Given the description of an element on the screen output the (x, y) to click on. 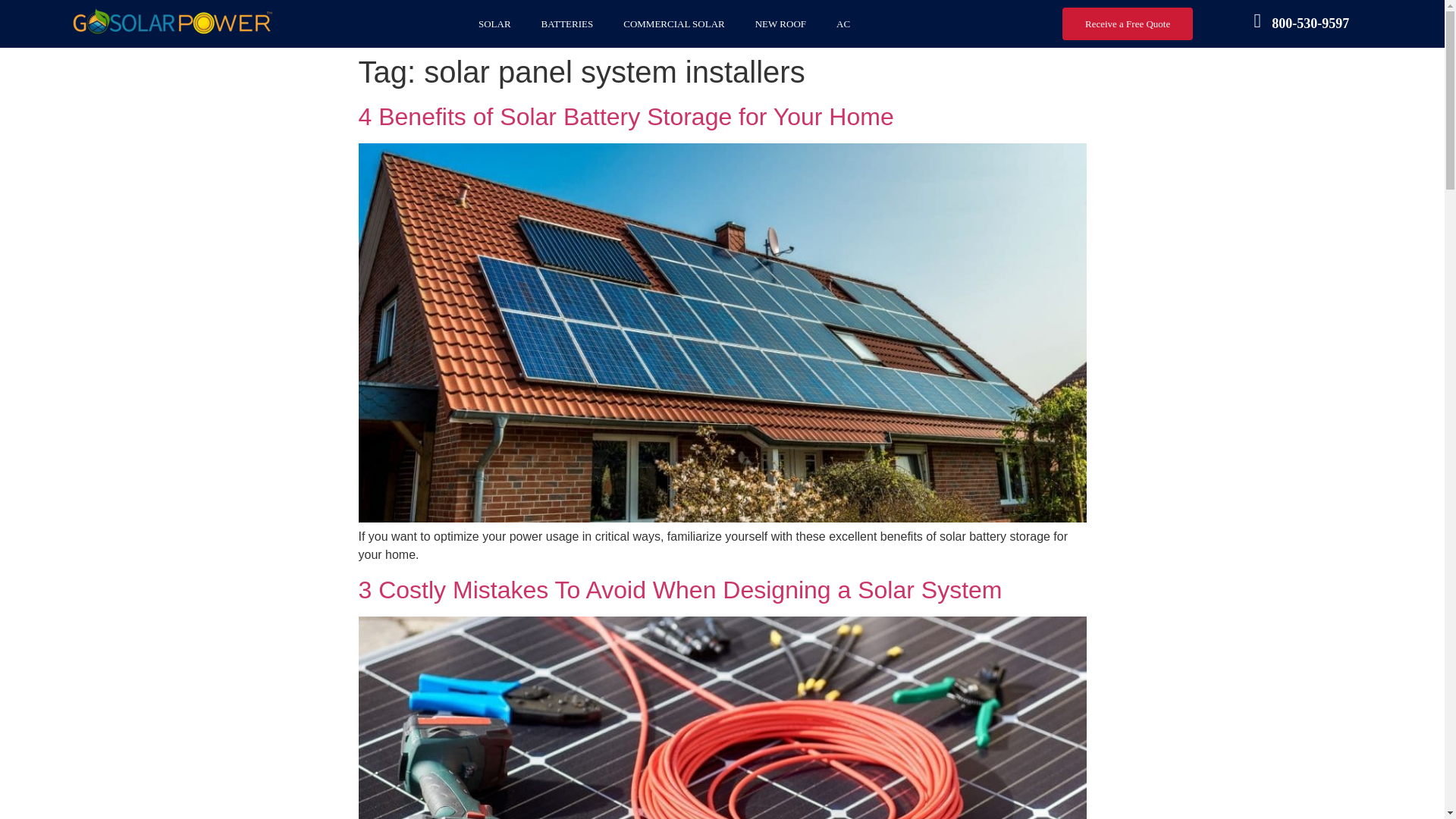
Receive a Free Quote (1127, 23)
AC (842, 24)
NEW ROOF (780, 24)
SOLAR (494, 24)
BATTERIES (566, 24)
800-530-9597 (1310, 23)
COMMERCIAL SOLAR (673, 24)
